Given the description of an element on the screen output the (x, y) to click on. 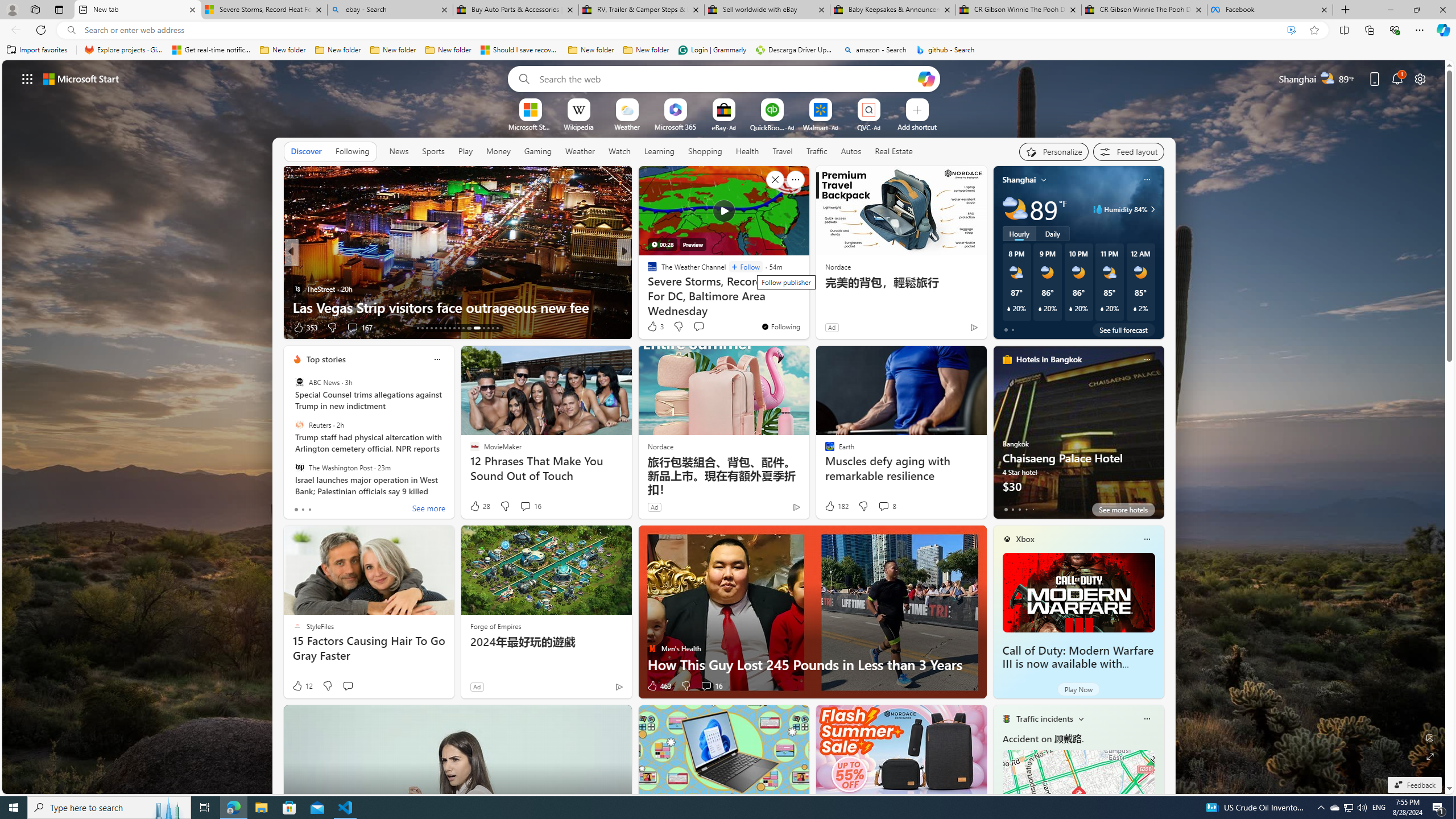
463 Like (658, 685)
Weather (580, 151)
Dailymotion (647, 288)
AutomationID: tab-26 (483, 328)
Shanghai (1018, 179)
Health (746, 151)
View comments 167 Comment (359, 327)
Edit Background (1430, 737)
